Given the description of an element on the screen output the (x, y) to click on. 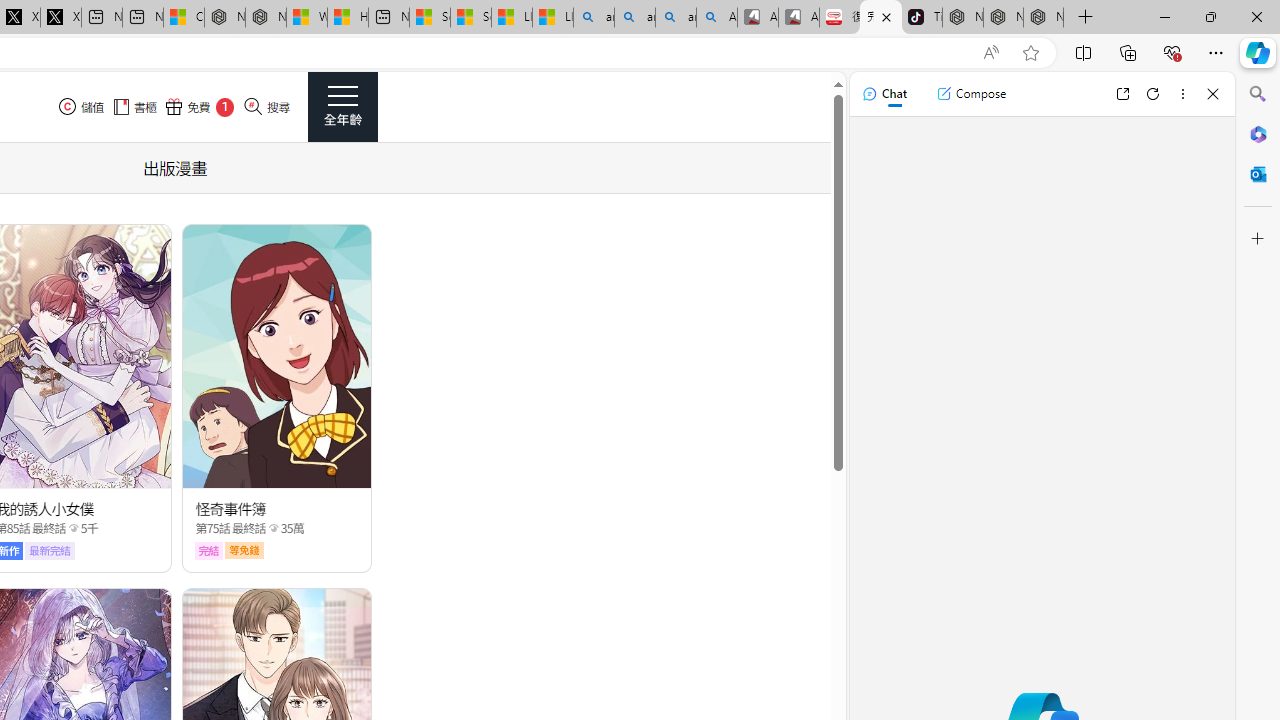
Class: thumb_img (277, 356)
